Given the description of an element on the screen output the (x, y) to click on. 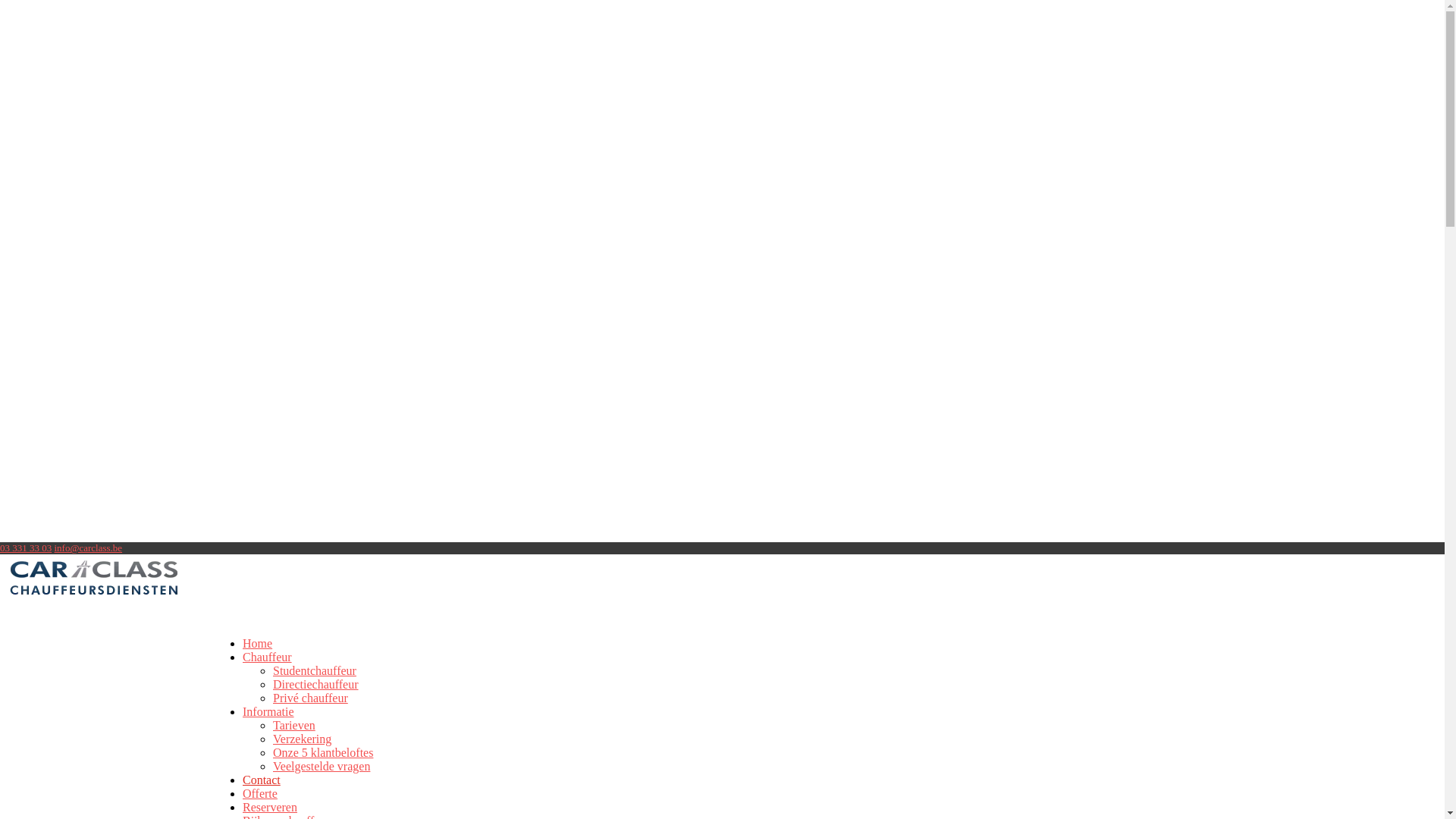
Tarieven Element type: text (294, 724)
Veelgestelde vragen Element type: text (321, 765)
Directiechauffeur Element type: text (315, 683)
Informatie Element type: text (268, 724)
Studentchauffeur Element type: text (314, 670)
03 331 33 03 Element type: text (25, 547)
Home Element type: text (257, 655)
info@carclass.be Element type: text (88, 547)
Verzekering Element type: text (302, 738)
Contact Element type: text (261, 792)
Onze 5 klantbeloftes Element type: text (323, 752)
Chauffeur Element type: text (266, 669)
